Given the description of an element on the screen output the (x, y) to click on. 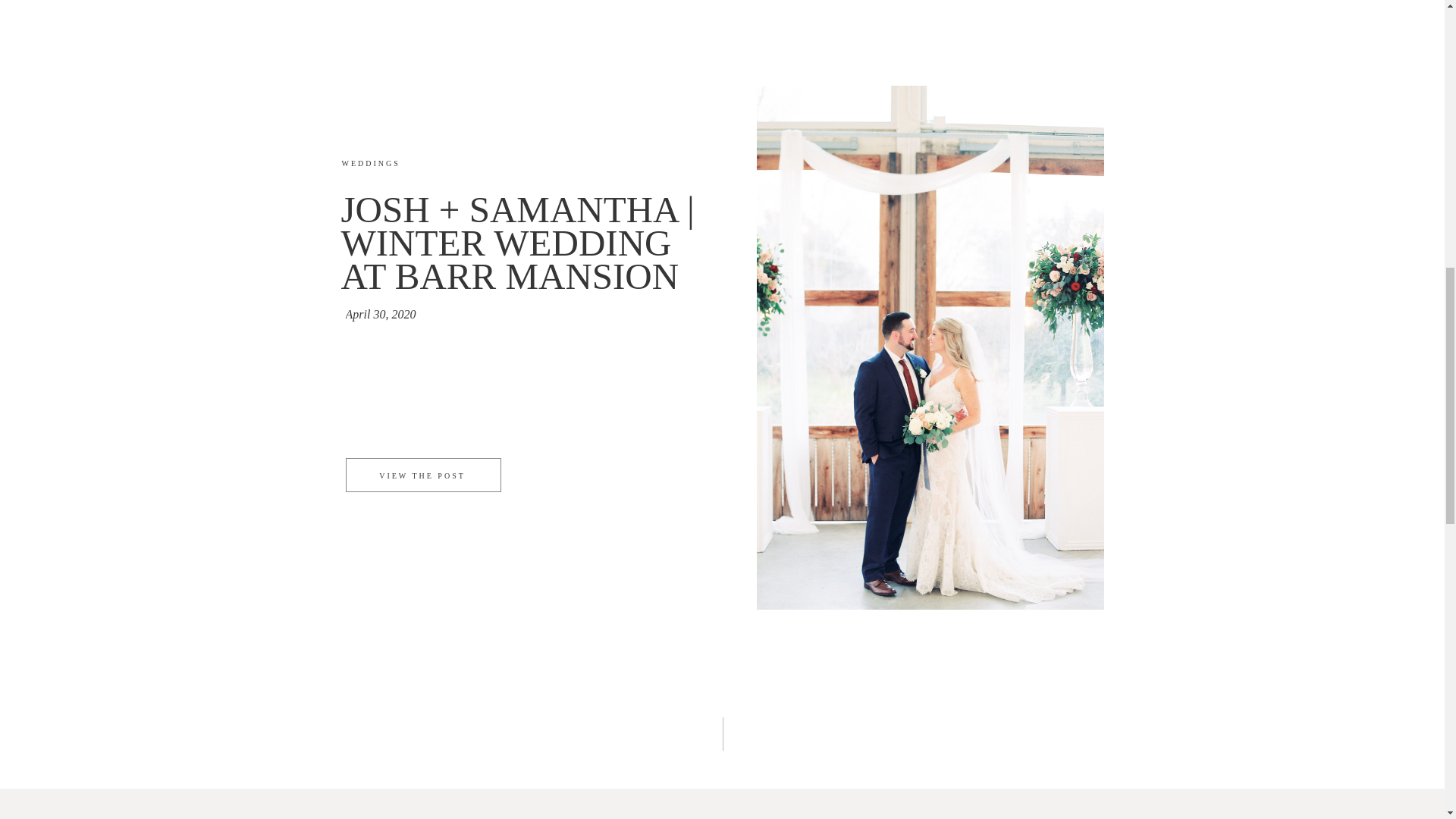
WEDDINGS (369, 162)
VIEW THE POST (422, 478)
